Given the description of an element on the screen output the (x, y) to click on. 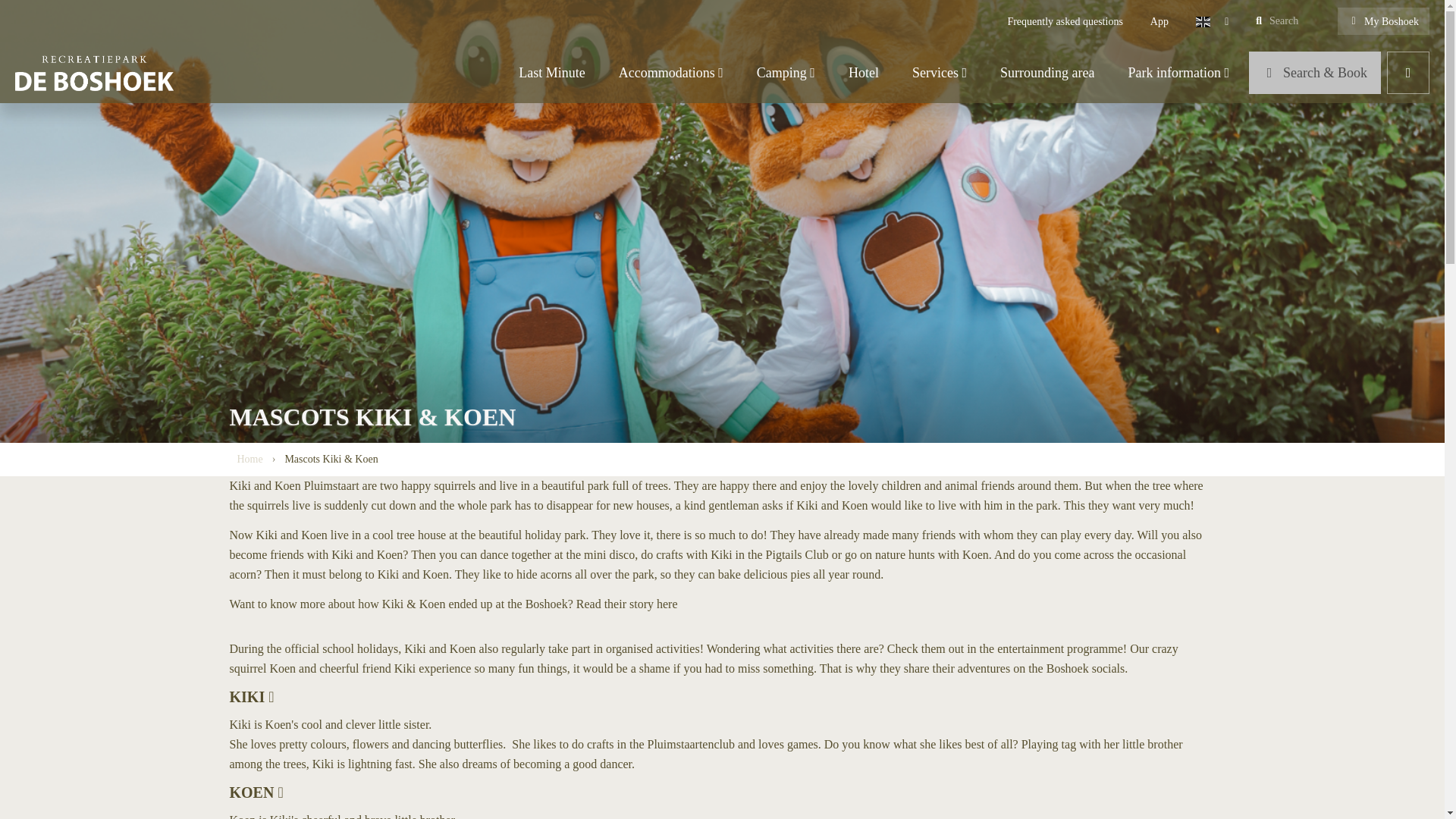
Camping (785, 72)
Hotel (863, 72)
App (1159, 21)
Services (938, 72)
My Boshoek (1383, 21)
Last Minute (551, 72)
Select language (1212, 21)
Accommodations (670, 72)
Frequently asked questions (1063, 21)
